Given the description of an element on the screen output the (x, y) to click on. 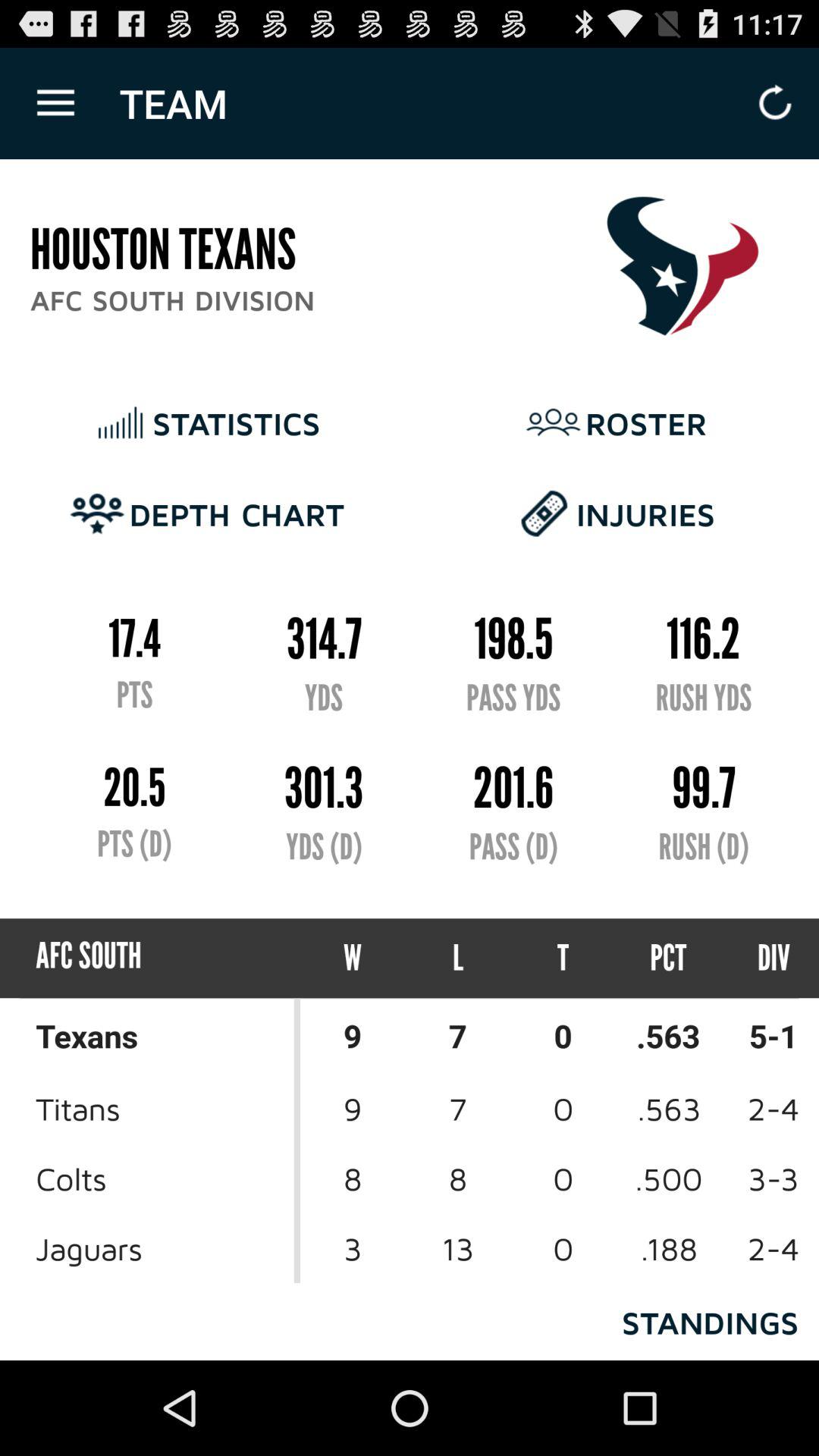
swipe to the l item (457, 958)
